Given the description of an element on the screen output the (x, y) to click on. 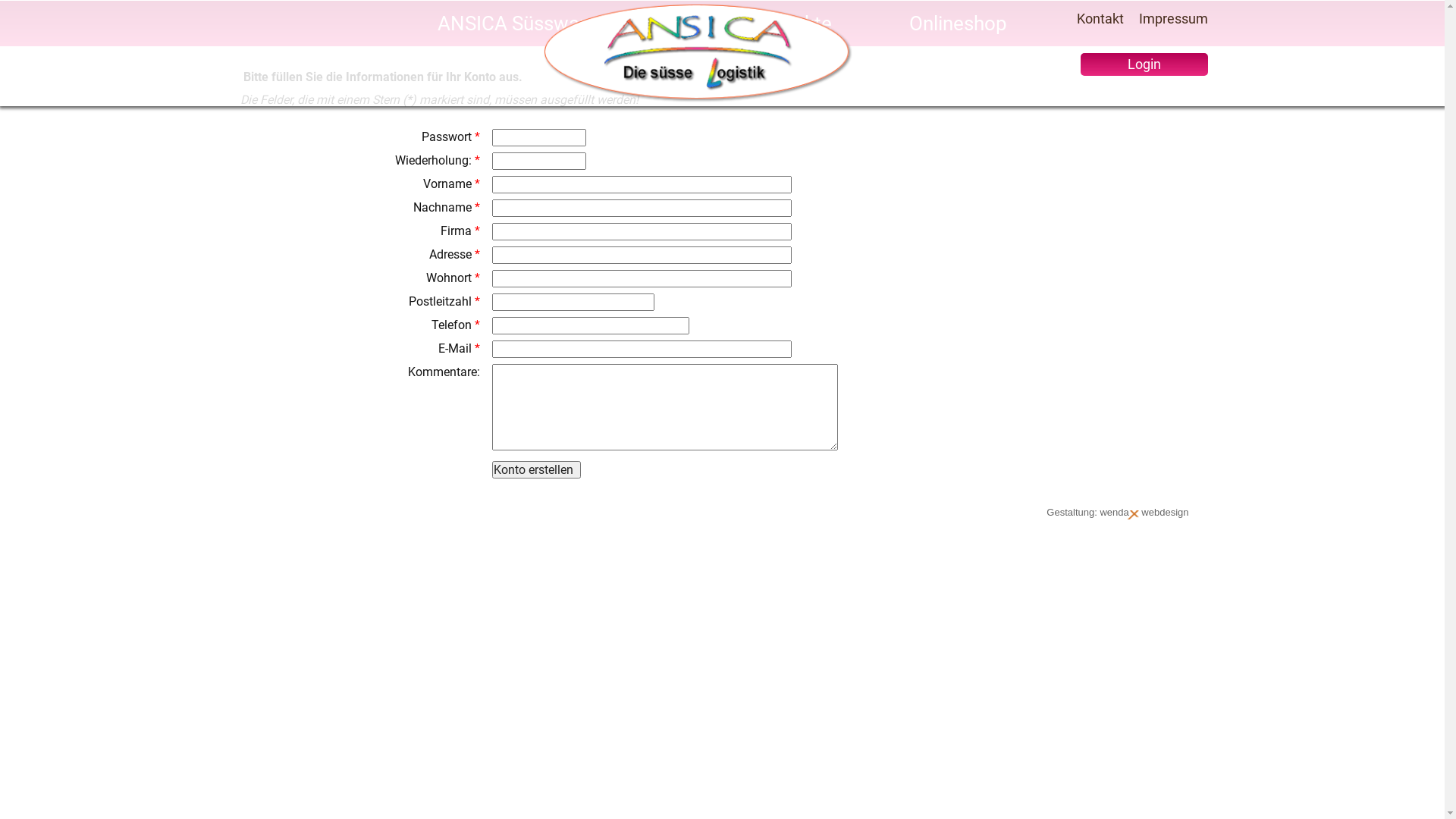
Impressum Element type: text (1169, 18)
Geben Sie hier Ihren Wohnort ein. Element type: hover (640, 278)
Geben Sie hier Ihre Anmerkungen ein. Element type: hover (664, 407)
Geben Sie hier Ihre PLZ ein. Element type: hover (572, 301)
Geben Sie hier Ihre Telefonnummer ein. Element type: hover (589, 325)
Login Element type: text (1143, 64)
Gestaltung: wenda webdesign Element type: text (1117, 511)
Konto erstellen Element type: text (535, 469)
Geben Sie hier Ihre E-Mail-Adresse ein. Element type: hover (640, 348)
Geben Sie hier Ihren Nachnamen ein. Element type: hover (640, 207)
Onlineshop Element type: text (958, 23)
Geben Sie hier Ihre Adresse ein. Element type: hover (640, 254)
Geben Sie hier Ihren Vornamen ein. Element type: hover (640, 184)
unsere Produkte Element type: text (759, 23)
Kontakt Element type: text (1100, 18)
Geben Sie hier das gleiche Passwort ein zweites Mal ein. Element type: hover (538, 160)
Geben Sie hier den Namen Ihrer Firma ein. Element type: hover (640, 231)
